Given the description of an element on the screen output the (x, y) to click on. 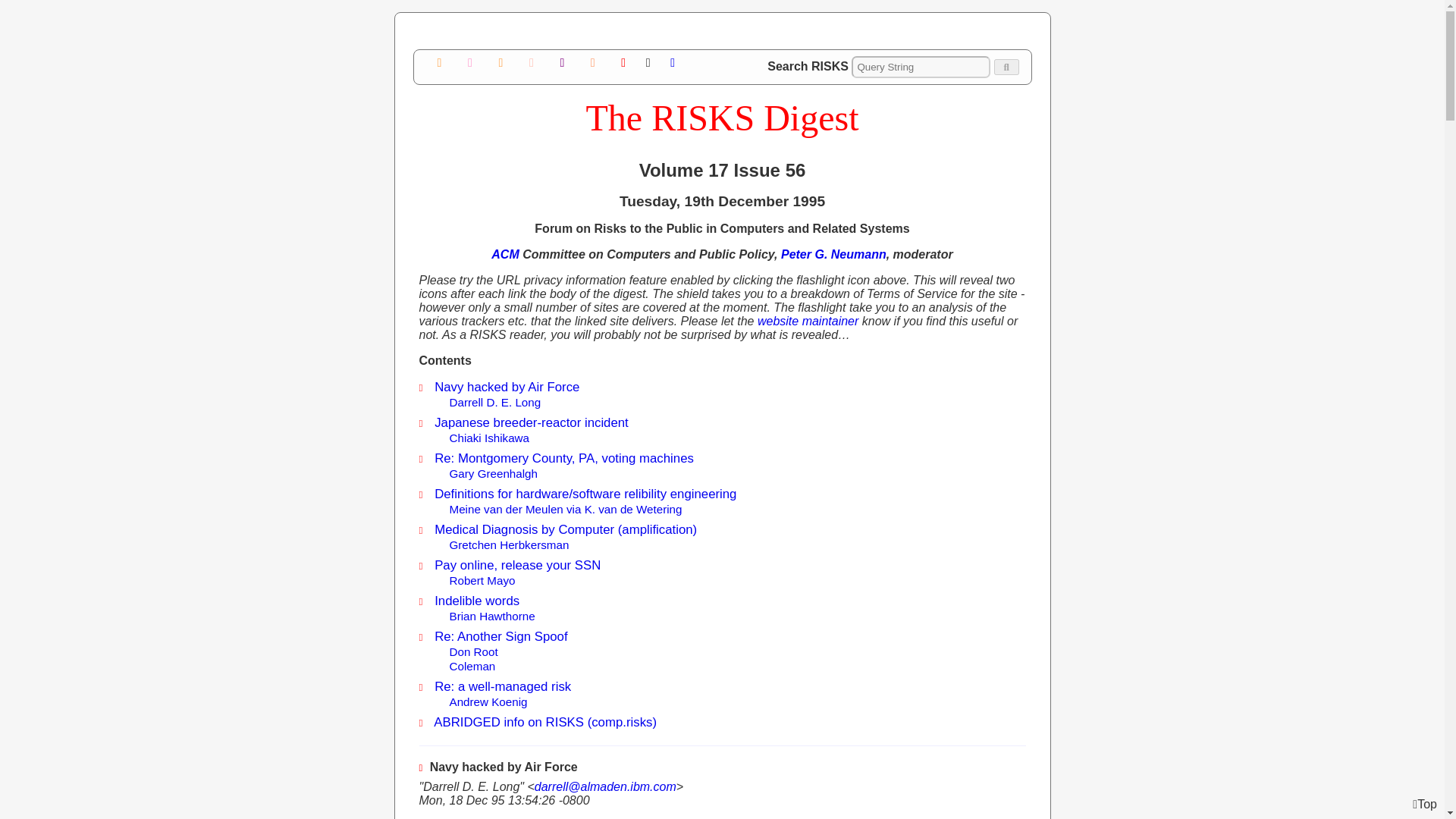
Volume 17 Index (470, 62)
Navy hacked by Air Force (506, 386)
Robert Mayo (481, 580)
Gretchen Herbkersman (508, 544)
Don Root (472, 651)
Re: a well-managed risk (501, 686)
Gary Greenhalgh (492, 472)
Report a problem with this issue (561, 62)
The latest issue (623, 62)
Pay online, release your SSN (516, 564)
